Given the description of an element on the screen output the (x, y) to click on. 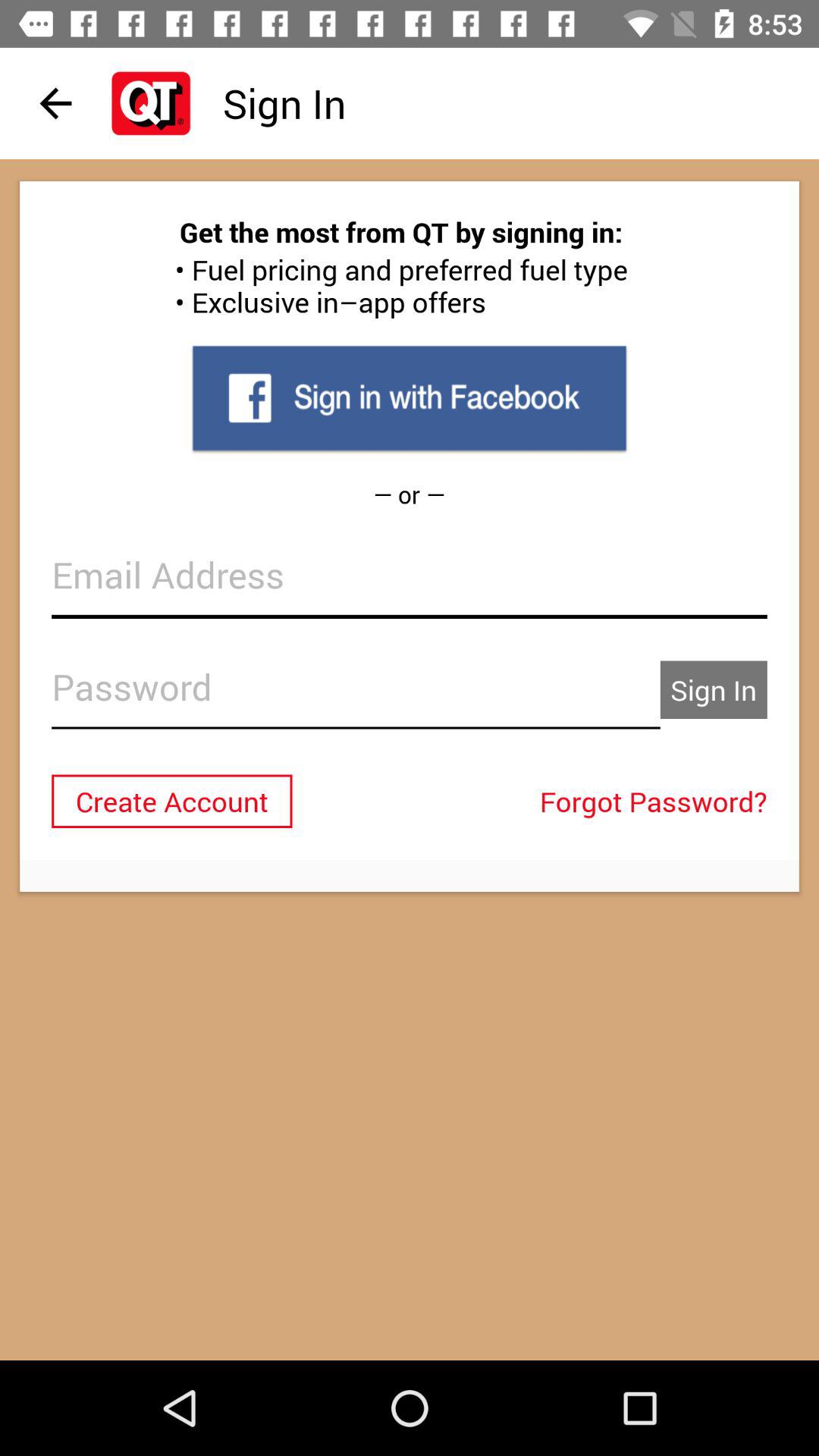
click the item to the left of the forgot password? icon (171, 801)
